Given the description of an element on the screen output the (x, y) to click on. 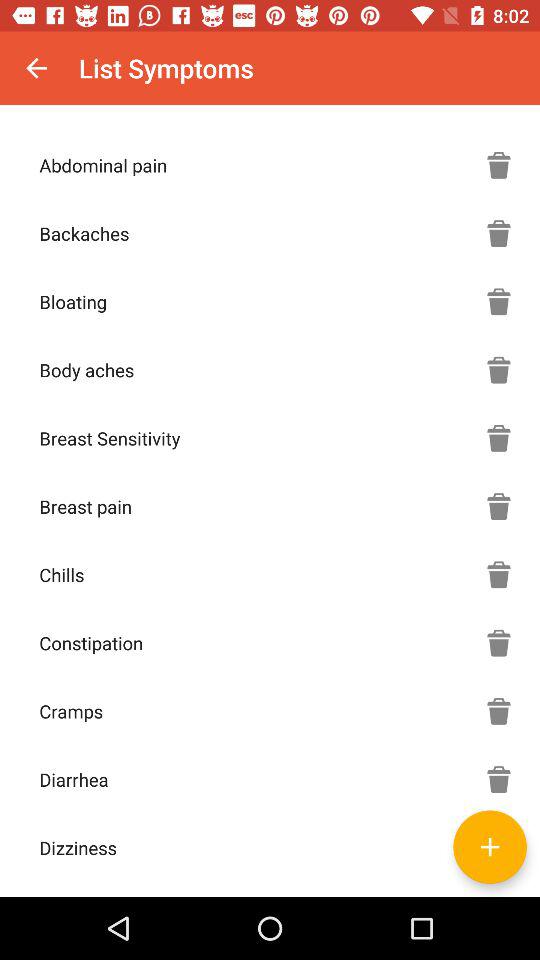
add more (489, 846)
